Given the description of an element on the screen output the (x, y) to click on. 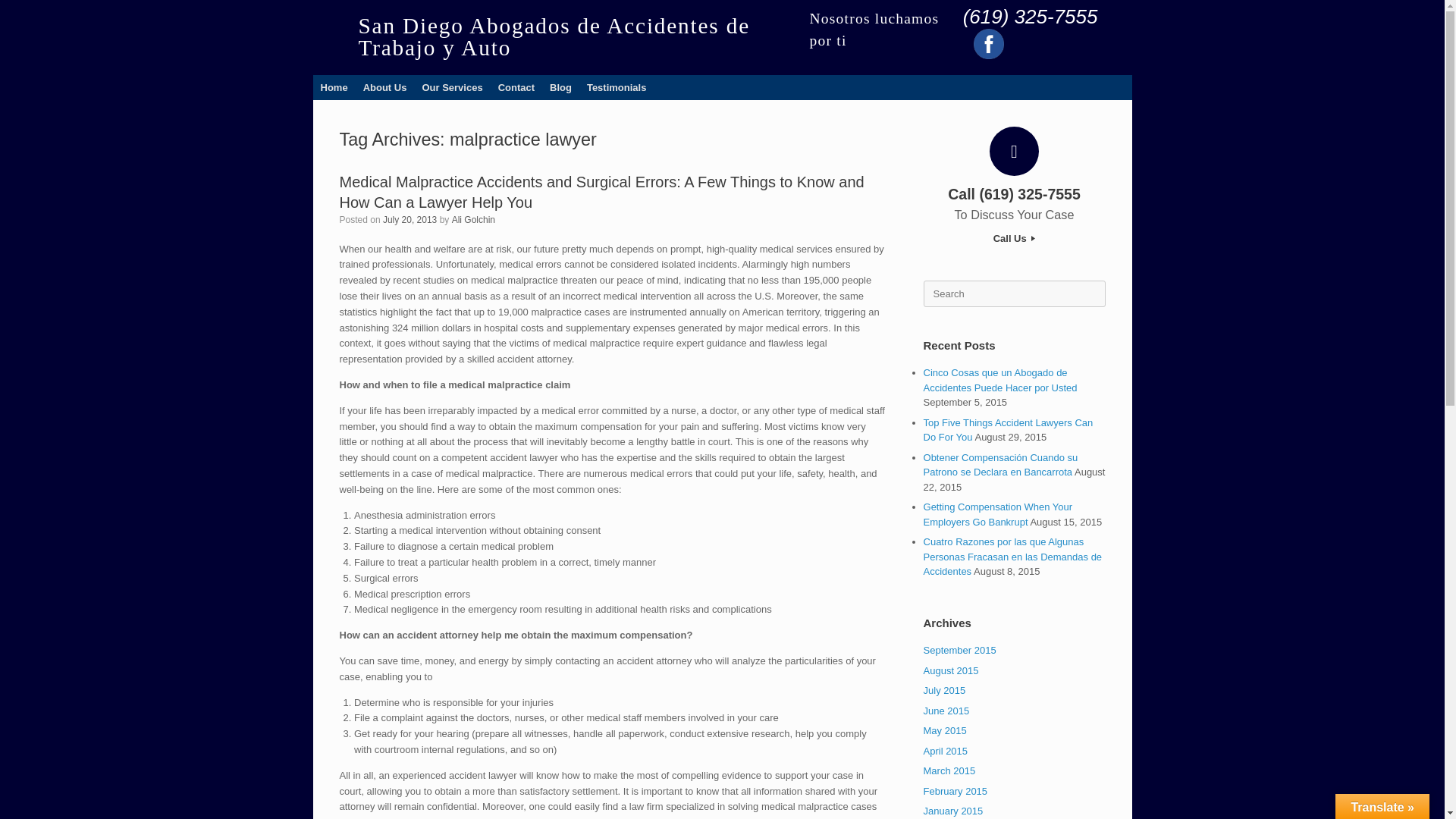
January 2015 (953, 810)
July 2015 (944, 690)
Experienced Accident Attorneys (334, 86)
About Us (384, 86)
Top Five Things Accident Lawyers Can Do For You (1008, 429)
May 2015 (944, 730)
August 2015 (950, 670)
June 2015 (946, 710)
Testimonials (616, 86)
Ali Golchin (473, 219)
September 2015 (959, 650)
Blog (560, 86)
March 2015 (949, 770)
